Given the description of an element on the screen output the (x, y) to click on. 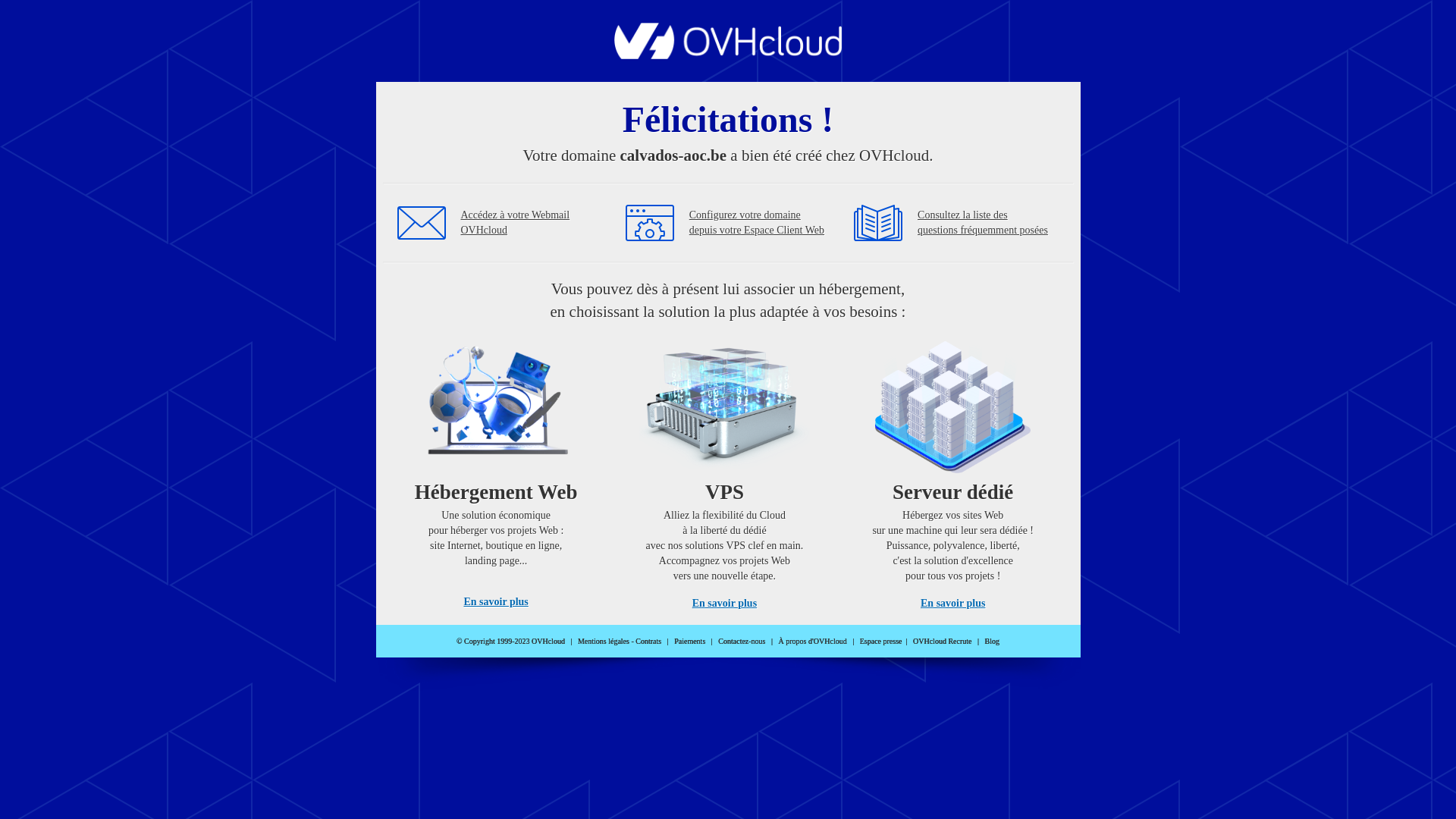
En savoir plus Element type: text (495, 601)
Blog Element type: text (992, 641)
Espace presse Element type: text (880, 641)
Contactez-nous Element type: text (741, 641)
Configurez votre domaine
depuis votre Espace Client Web Element type: text (756, 222)
En savoir plus Element type: text (724, 602)
OVHcloud Element type: hover (727, 54)
VPS Element type: hover (724, 469)
OVHcloud Recrute Element type: text (942, 641)
Paiements Element type: text (689, 641)
En savoir plus Element type: text (952, 602)
